Given the description of an element on the screen output the (x, y) to click on. 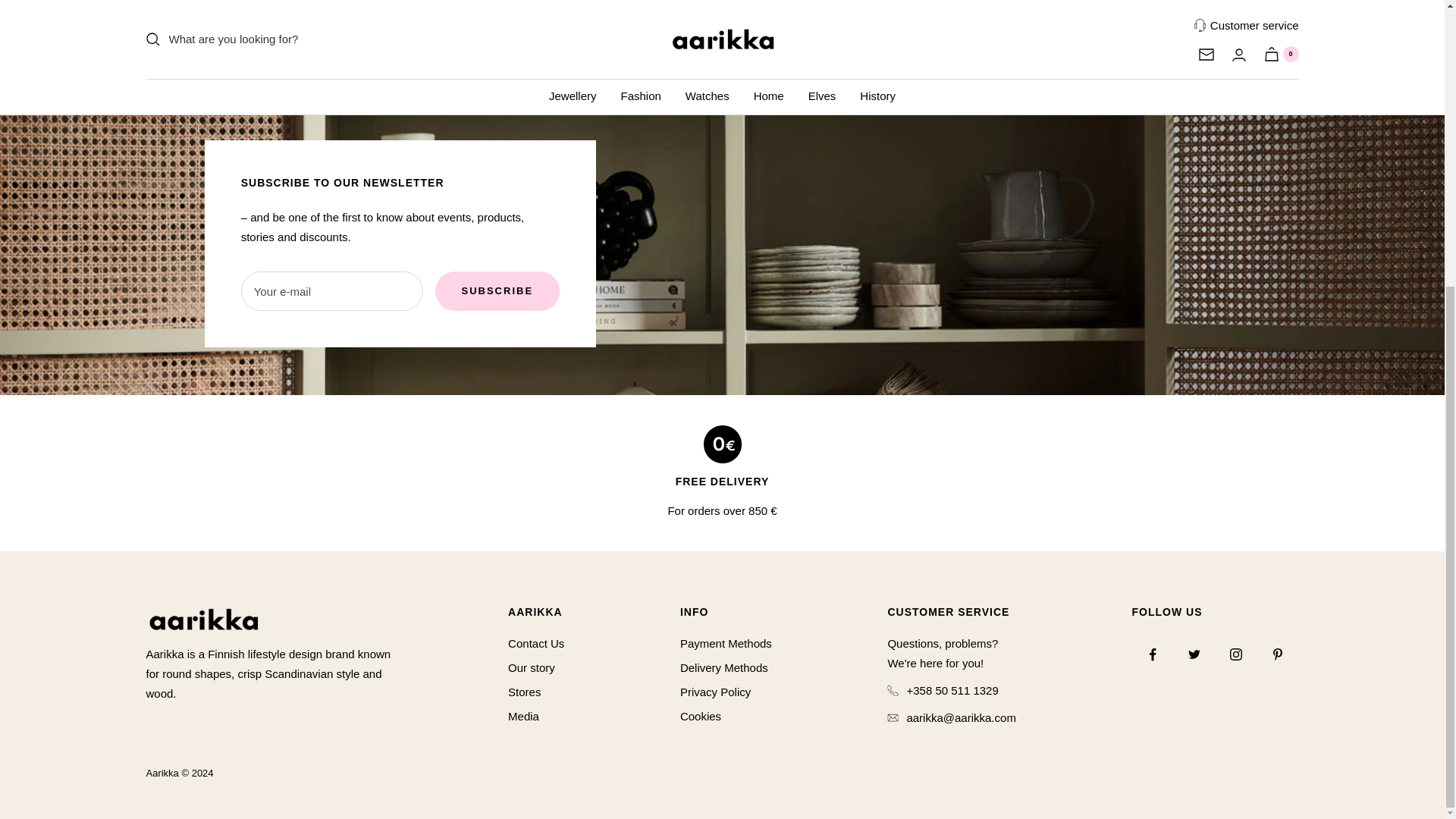
Delivery Methods (723, 668)
Media (523, 716)
SUBSCRIBE (497, 291)
LOGIN (721, 11)
Privacy Policy (715, 691)
Stores (524, 691)
Cookies (699, 716)
Create an account (760, 44)
Contact Us (536, 643)
Our story (531, 668)
Payment Methods (725, 643)
